Given the description of an element on the screen output the (x, y) to click on. 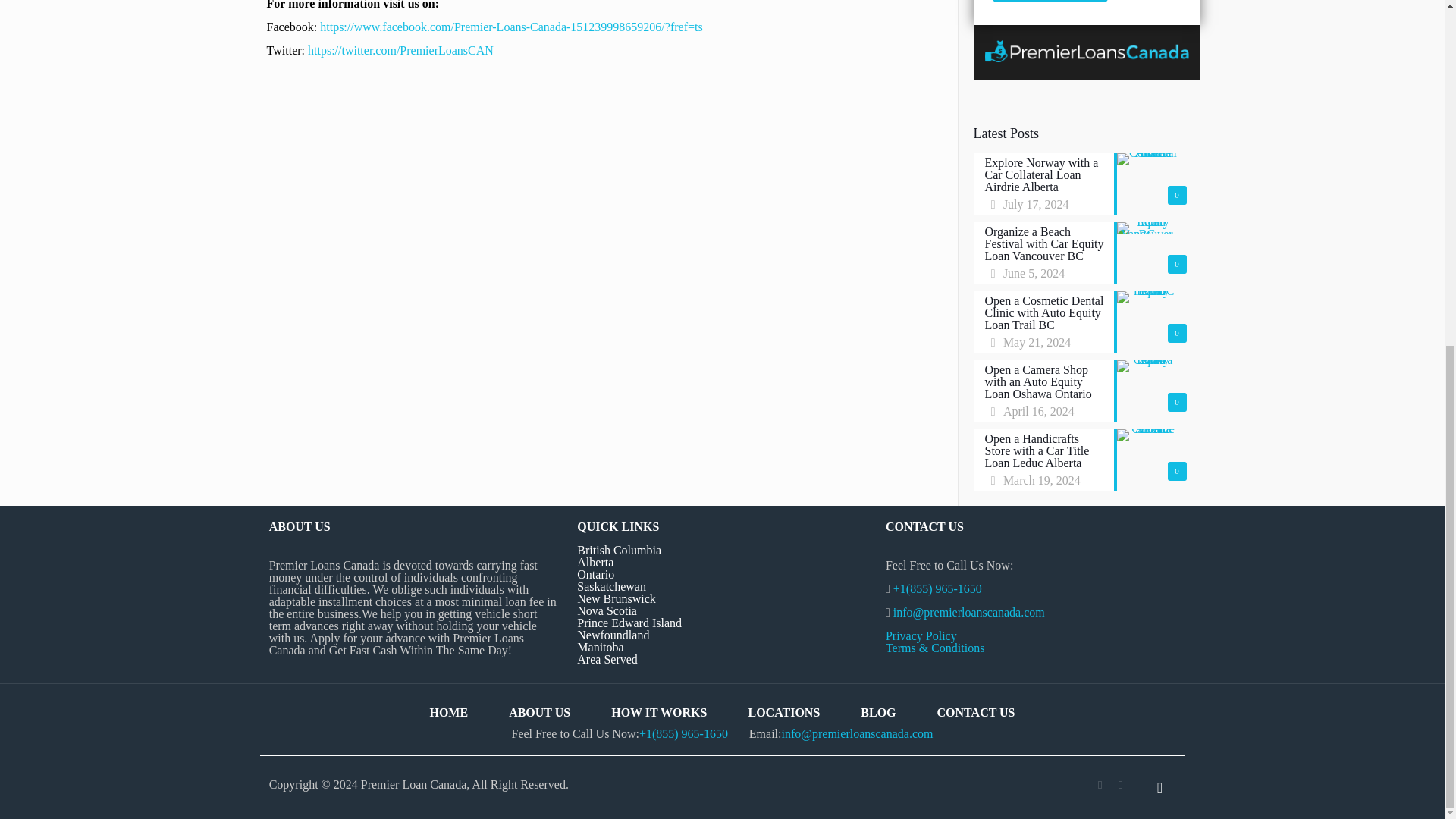
GIVE ME MY LOAN (1050, 1)
British Columbia (618, 549)
Twitter (1120, 784)
GIVE ME MY LOAN (1050, 1)
Facebook (1100, 784)
